Given the description of an element on the screen output the (x, y) to click on. 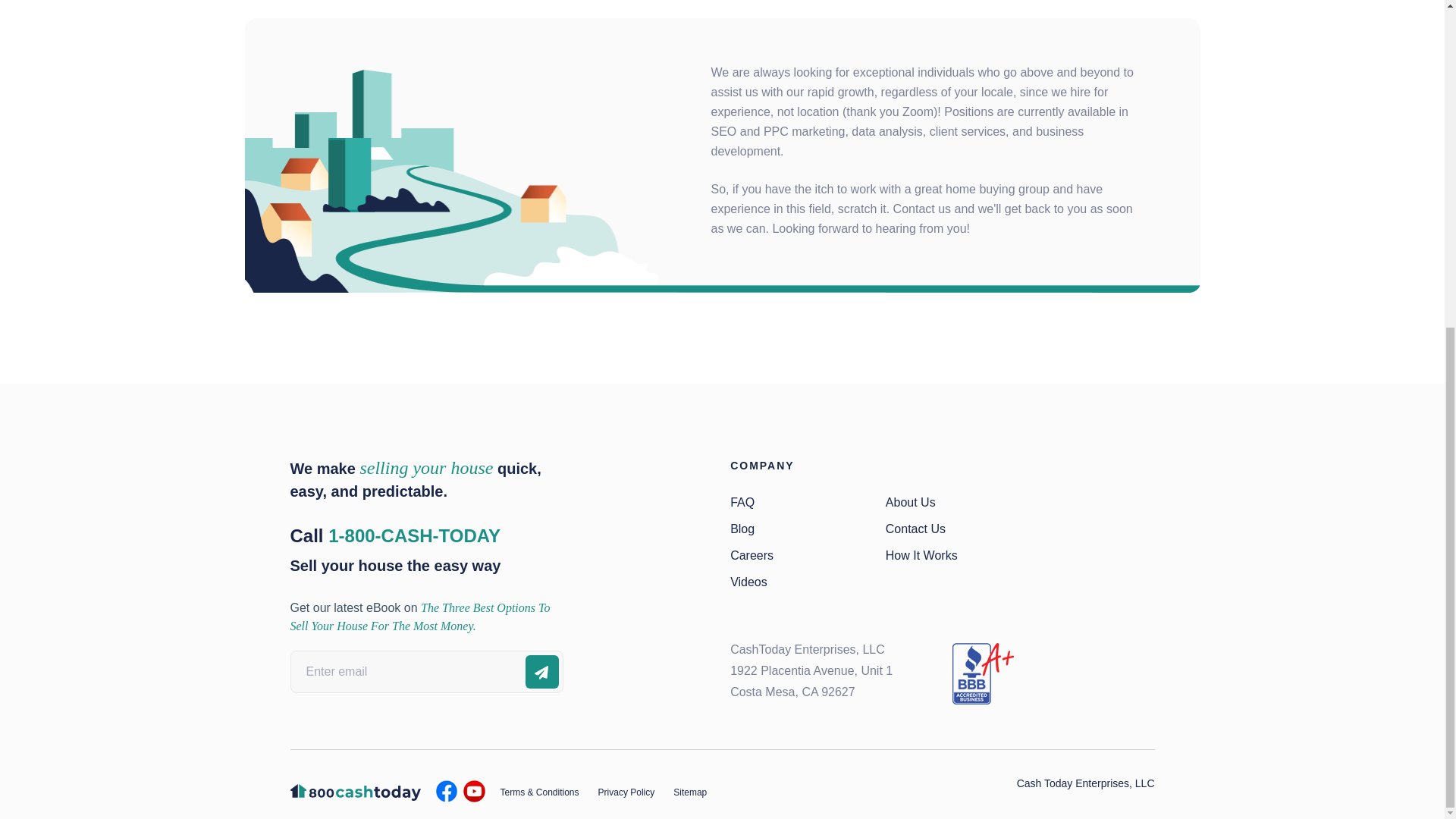
Sitemap (689, 792)
Privacy Policy (626, 792)
Contact Us (914, 528)
About Us (910, 502)
Videos (748, 581)
How It Works (921, 554)
FAQ (742, 502)
Blog (742, 528)
Careers (751, 554)
